Given the description of an element on the screen output the (x, y) to click on. 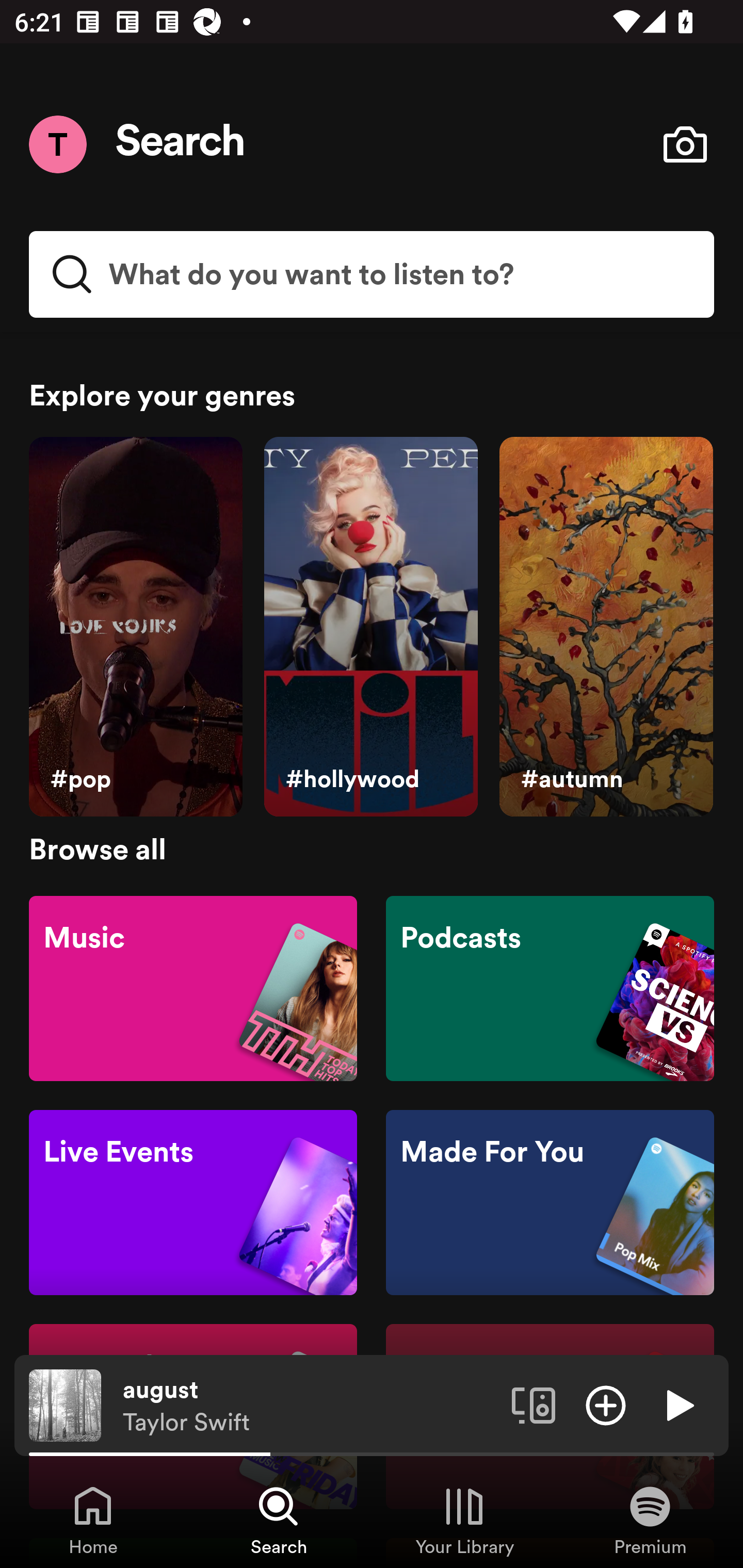
Menu (57, 144)
Open camera (685, 145)
Search (180, 144)
#pop (135, 626)
#hollywood (370, 626)
#autumn (606, 626)
Music (192, 987)
Podcasts (549, 987)
Live Events (192, 1202)
Made For You (549, 1202)
august Taylor Swift (309, 1405)
The cover art of the currently playing track (64, 1404)
Connect to a device. Opens the devices menu (533, 1404)
Add item (605, 1404)
Play (677, 1404)
Home, Tab 1 of 4 Home Home (92, 1519)
Search, Tab 2 of 4 Search Search (278, 1519)
Your Library, Tab 3 of 4 Your Library Your Library (464, 1519)
Premium, Tab 4 of 4 Premium Premium (650, 1519)
